Given the description of an element on the screen output the (x, y) to click on. 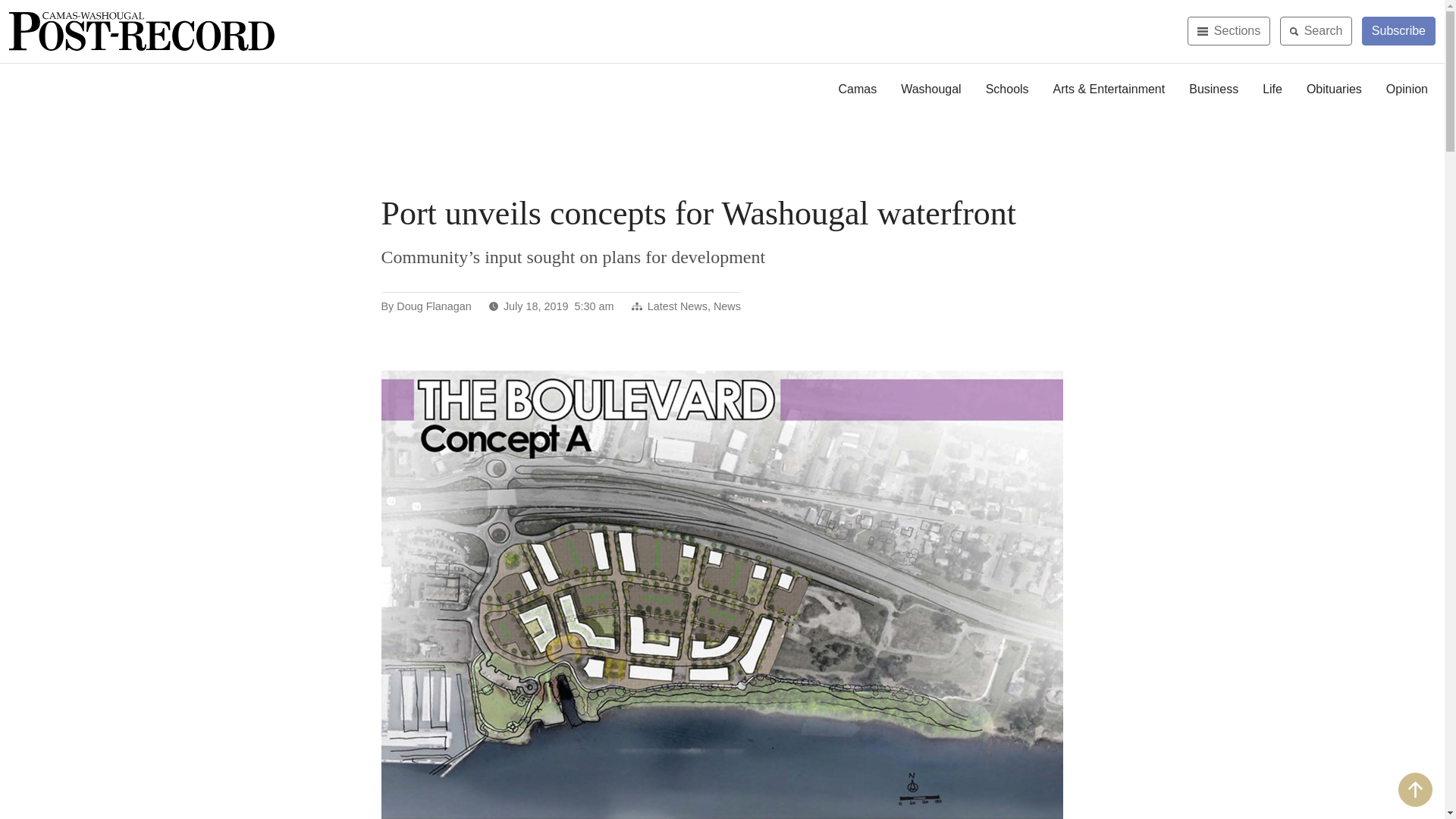
Obituaries (1334, 88)
Subscribe (1398, 30)
Sections (1228, 30)
News (727, 306)
Life (1272, 88)
Latest News (677, 306)
Schools (1007, 88)
Doug Flanagan (433, 306)
Opinion (1406, 88)
Washougal (930, 88)
Search (1315, 30)
Business (1213, 88)
Camas (858, 88)
